Given the description of an element on the screen output the (x, y) to click on. 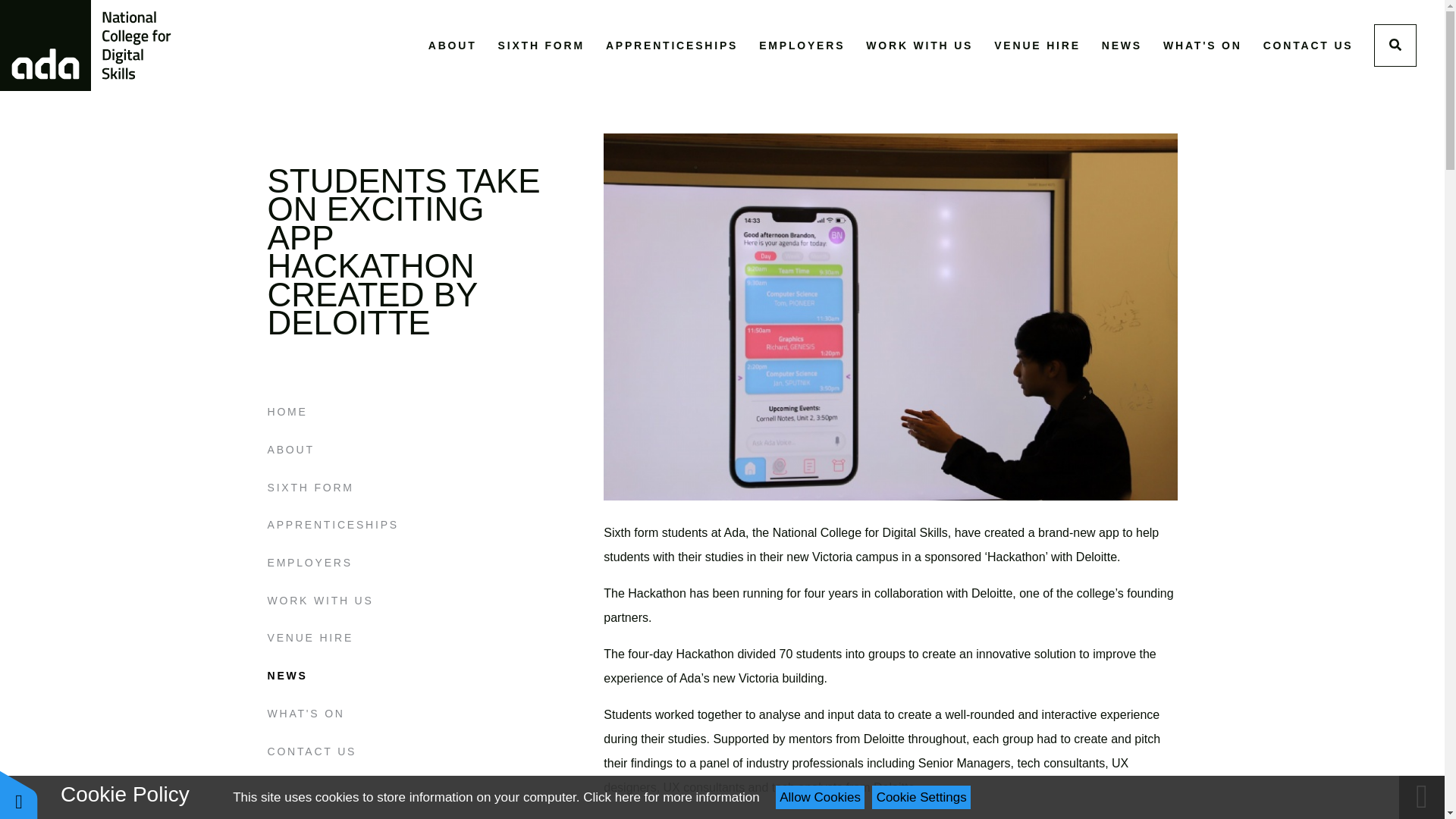
Cookie Settings (921, 797)
NEWS (1121, 45)
Allow Cookies (820, 797)
VENUE HIRE (1037, 45)
See cookie policy (670, 797)
EMPLOYERS (801, 45)
APPRENTICESHIPS (671, 45)
CONTACT US (1308, 45)
WHAT'S ON (1202, 45)
SIXTH FORM (541, 45)
WORK WITH US (919, 45)
ABOUT (452, 45)
